Given the description of an element on the screen output the (x, y) to click on. 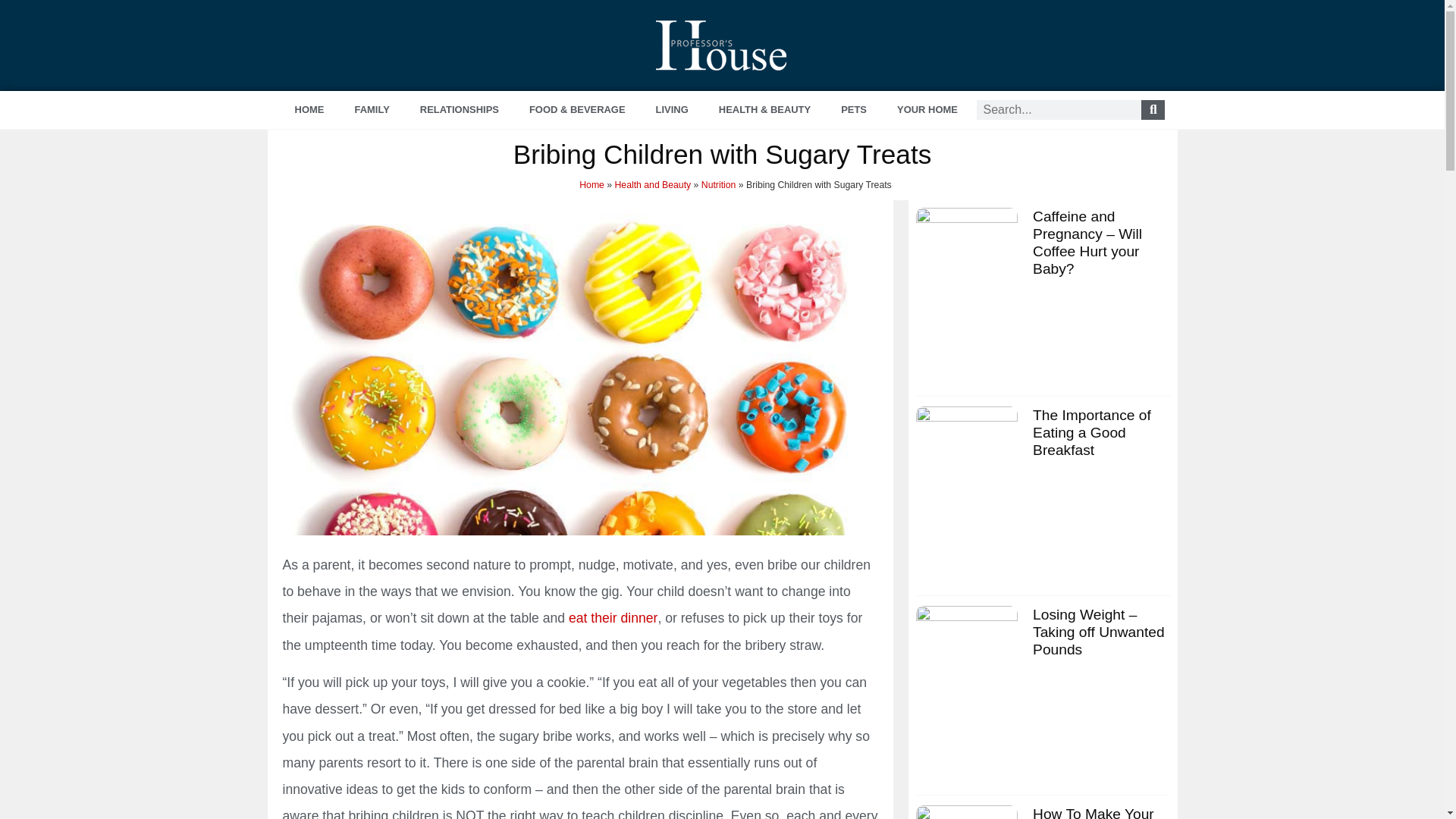
HOME (309, 109)
RELATIONSHIPS (458, 109)
Family (371, 109)
FAMILY (371, 109)
Pick Up Your Fork (613, 617)
LIVING (671, 109)
PETS (853, 109)
YOUR HOME (927, 109)
